Given the description of an element on the screen output the (x, y) to click on. 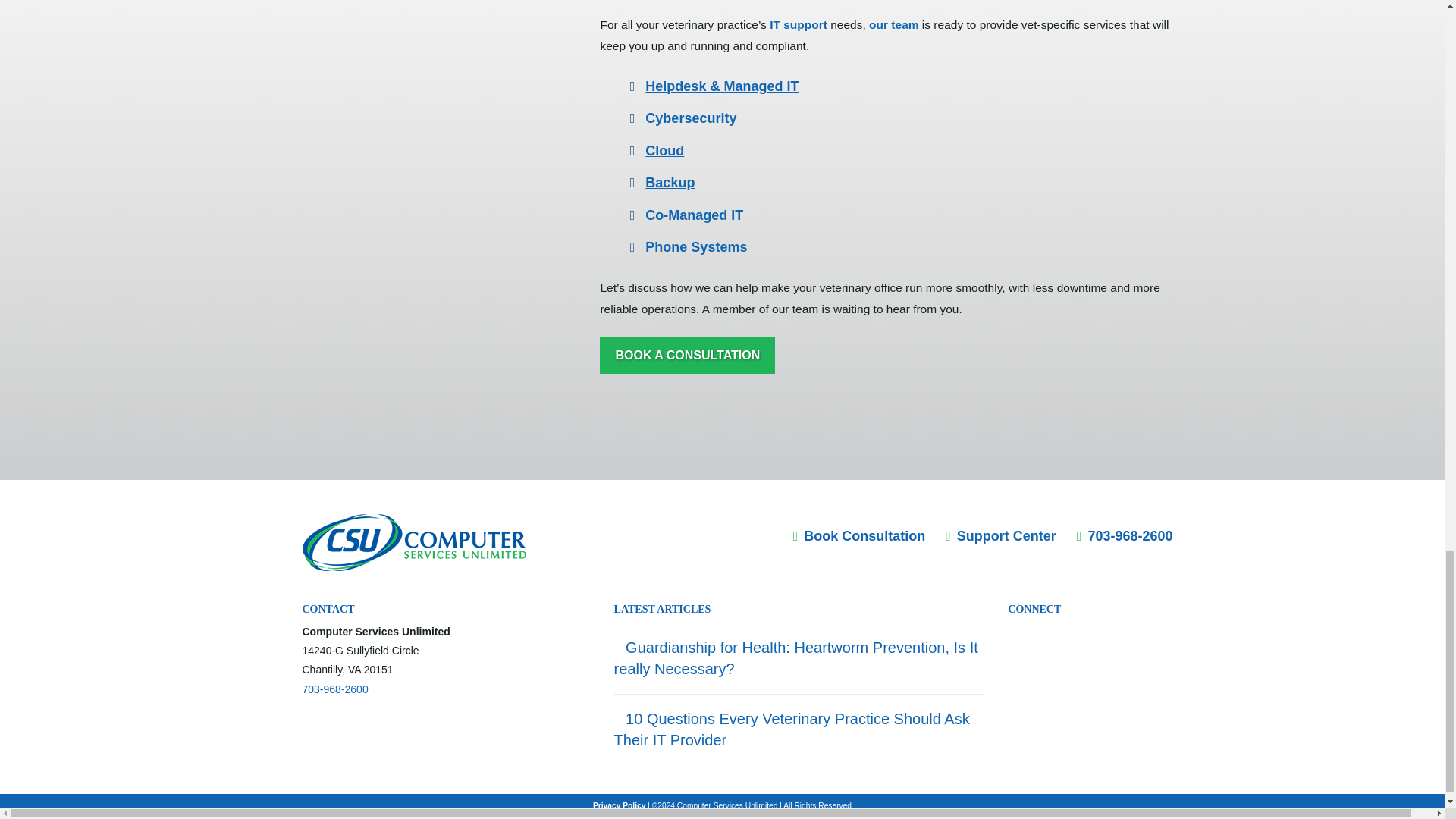
Backup (669, 182)
Cloud (664, 150)
Book Consultation (859, 535)
IT support (798, 24)
Co-Managed IT (693, 215)
Phone Systems (695, 246)
BOOK A CONSULTATION (686, 355)
Cybersecurity (690, 118)
Support Center (1000, 535)
703-968-2600 (1125, 535)
703-968-2600 (334, 689)
our team (893, 24)
